Given the description of an element on the screen output the (x, y) to click on. 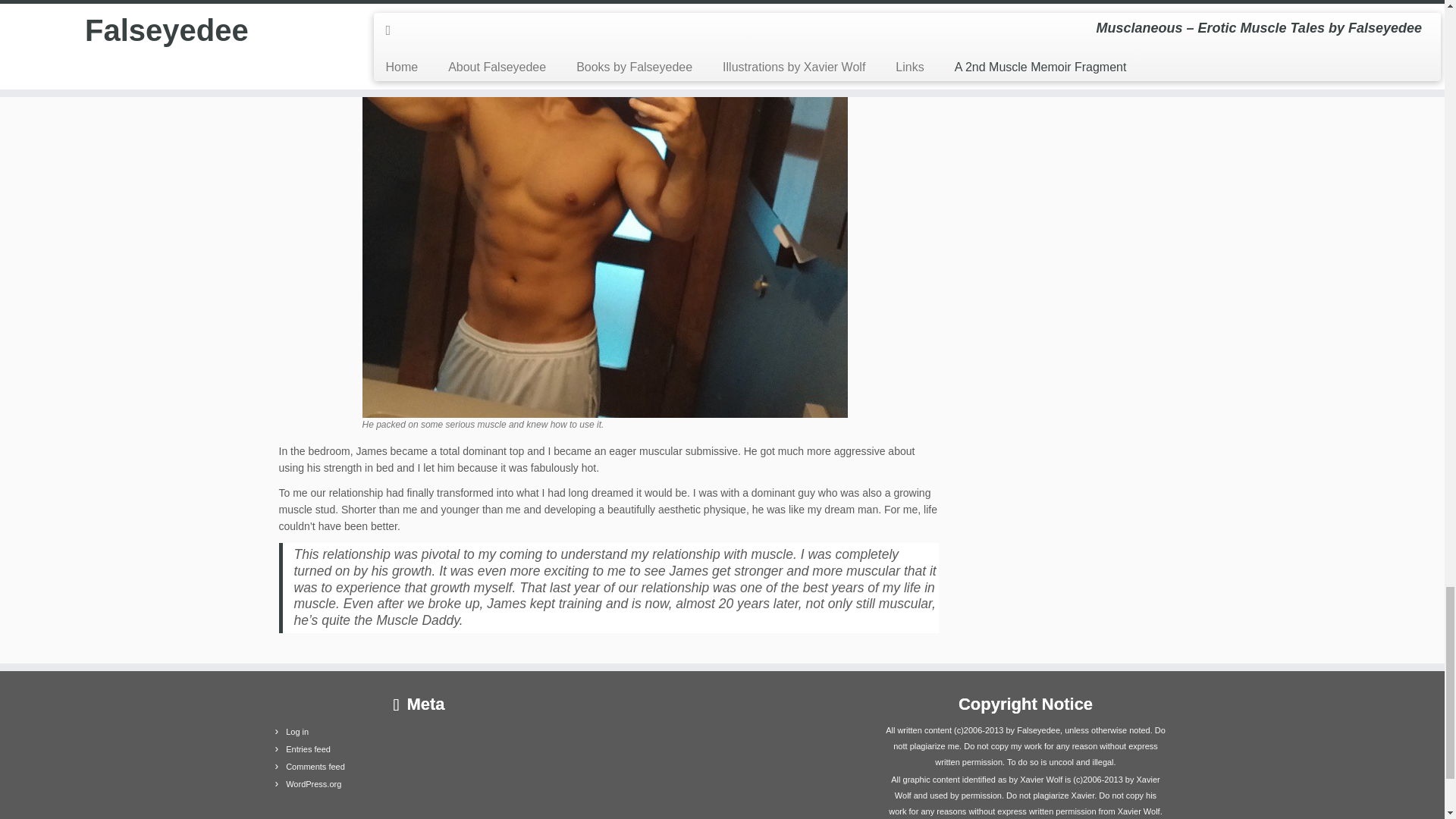
WordPress.org (312, 783)
Entries feed (307, 748)
Comments feed (315, 766)
Log in (296, 731)
